Given the description of an element on the screen output the (x, y) to click on. 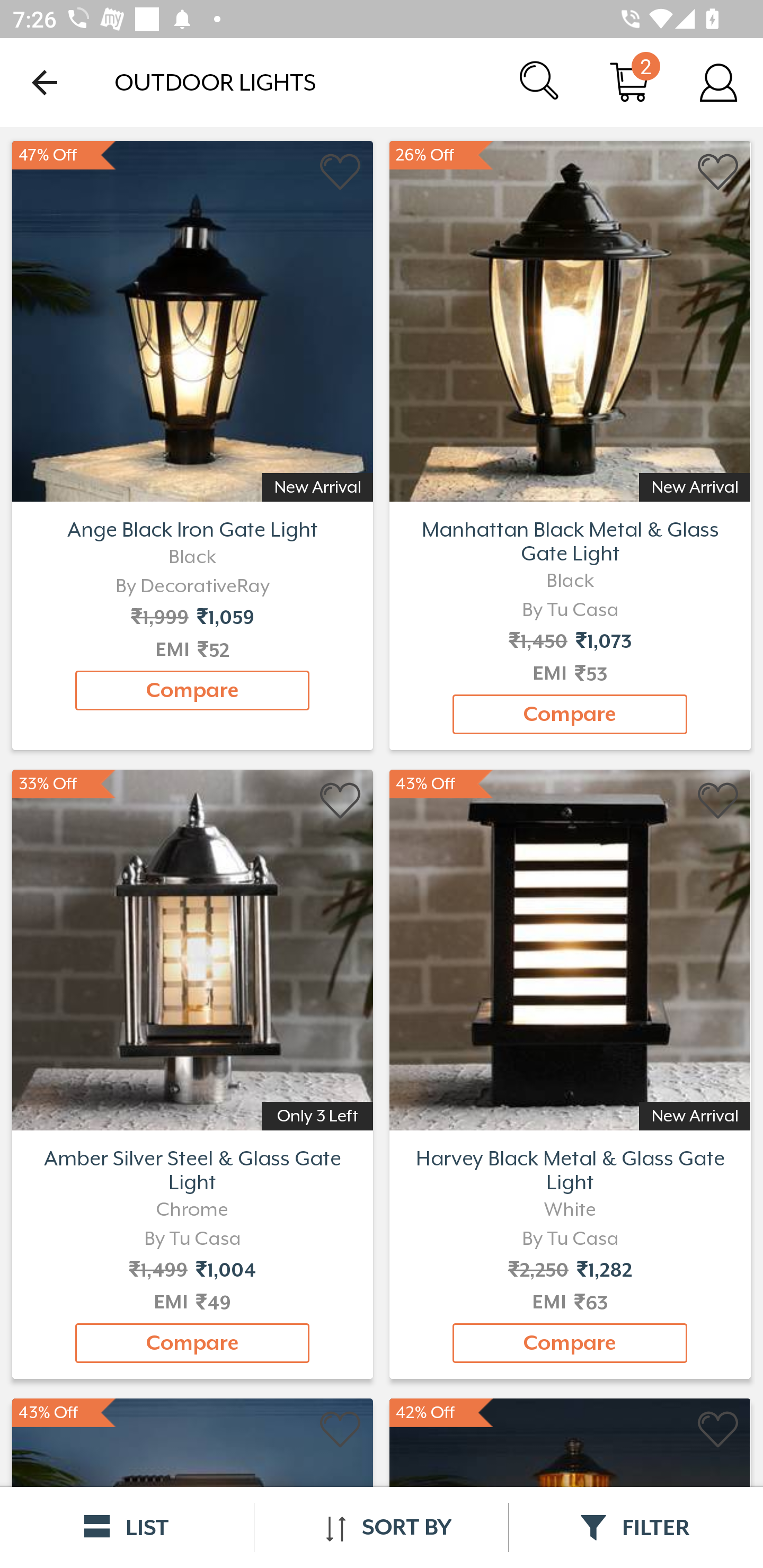
Navigate up (44, 82)
Search (540, 81)
Cart (629, 81)
Account Details (718, 81)
1574+ options Floor Lamps Starting from  ₹1,247 (191, 318)
2354+ options Table Lamps Starting from  ₹630 (570, 318)
 (341, 172)
 (718, 172)
Compare (192, 690)
Compare (569, 713)
 (341, 800)
 (718, 800)
Compare (192, 1342)
Compare (569, 1342)
 (341, 1429)
 (718, 1429)
 LIST (127, 1527)
SORT BY (381, 1527)
 FILTER (635, 1527)
